Given the description of an element on the screen output the (x, y) to click on. 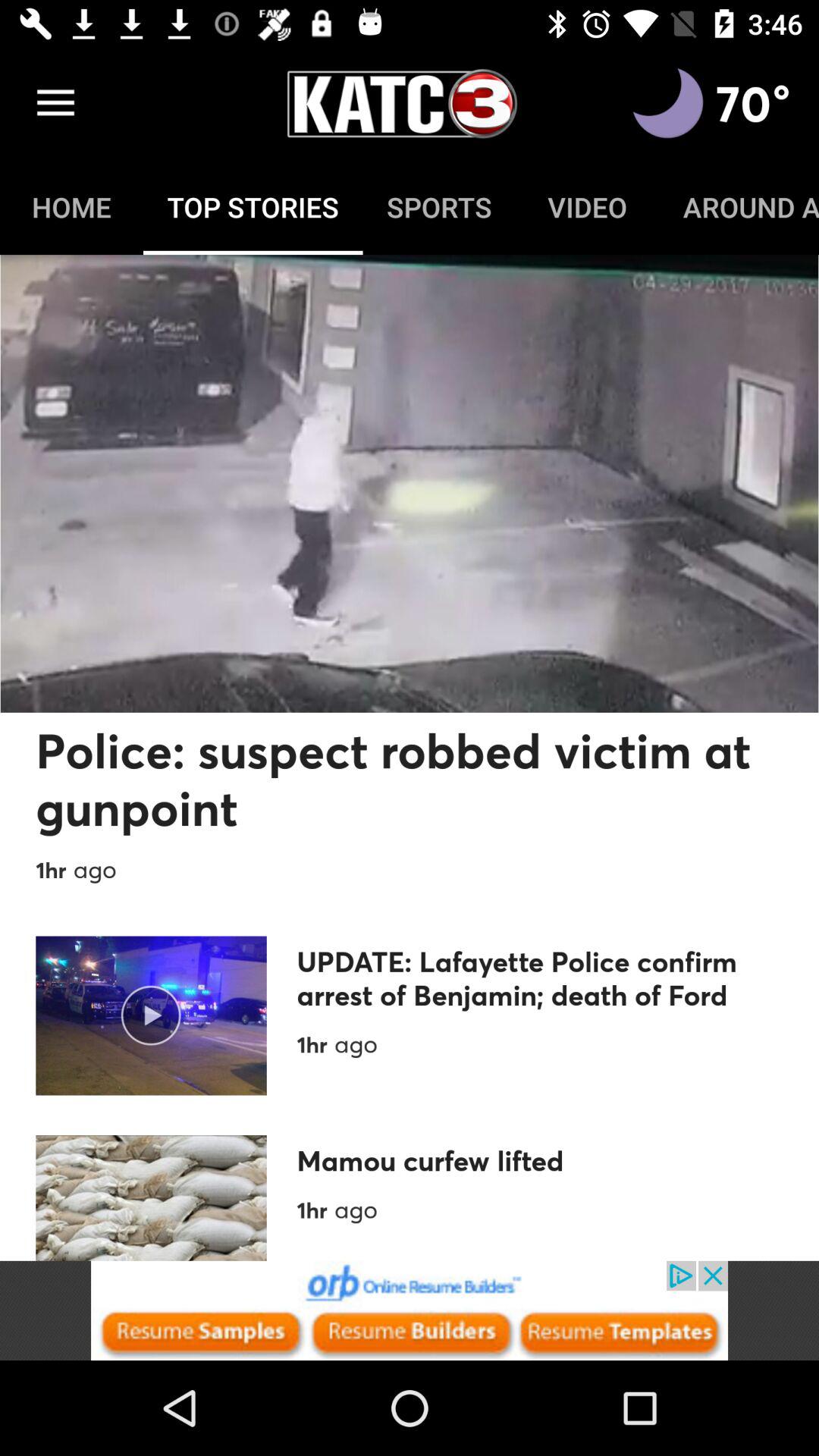
switch to dark mode (668, 103)
